Given the description of an element on the screen output the (x, y) to click on. 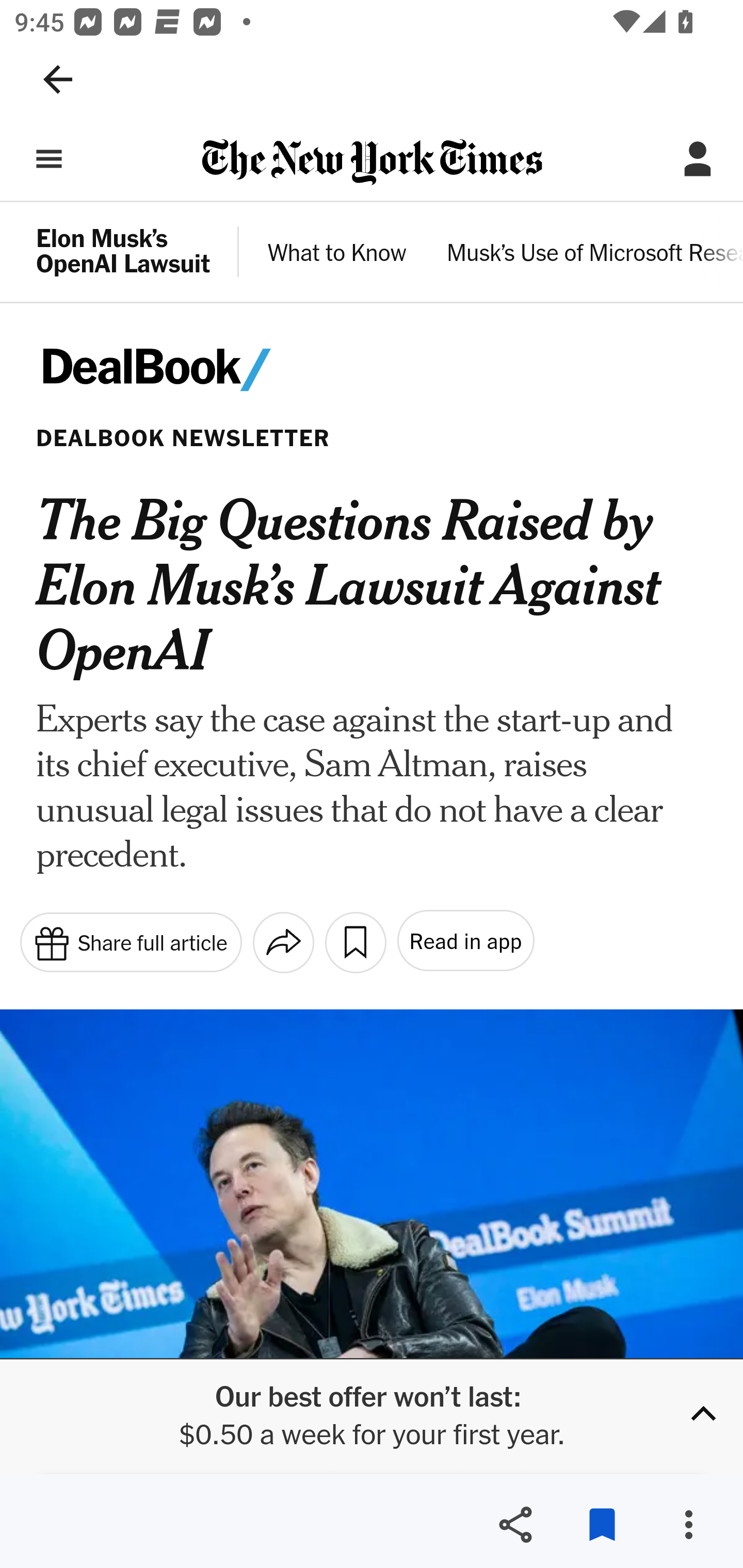
Navigate up (57, 79)
SEARCH & SECTION NAVIGATION (48, 159)
Log in (697, 159)
New York Times homepage (371, 162)
What to Know (337, 254)
Musk’s Use of Microsoft Research (594, 254)
DealBook (181, 369)
More sharing options ... (283, 942)
Save article for reading later... (355, 942)
Read in app (464, 940)
Share full article (129, 941)
Share (514, 1524)
Remove from saved stories (601, 1524)
More options (688, 1524)
